Given the description of an element on the screen output the (x, y) to click on. 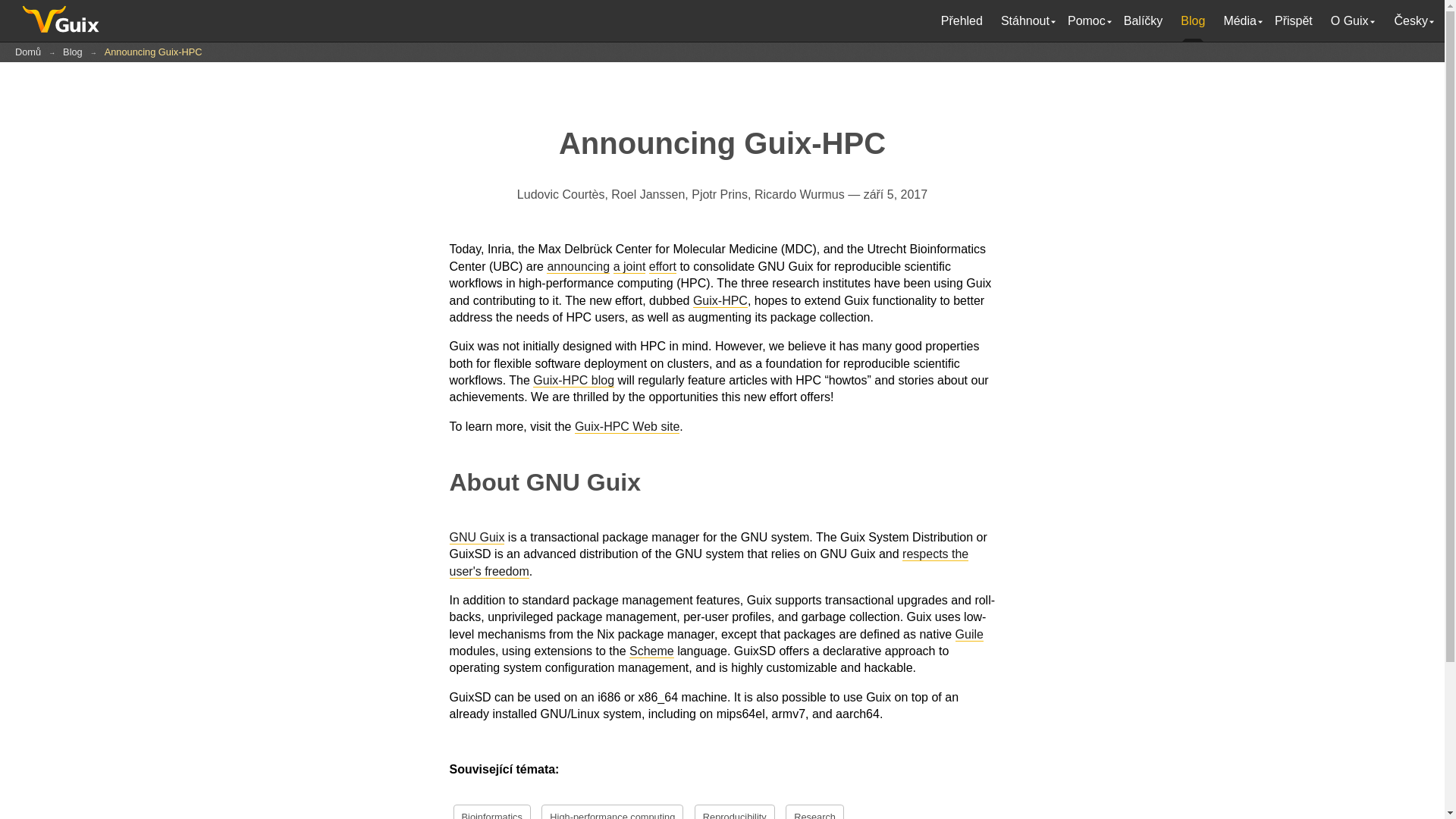
Blog (1192, 20)
